Given the description of an element on the screen output the (x, y) to click on. 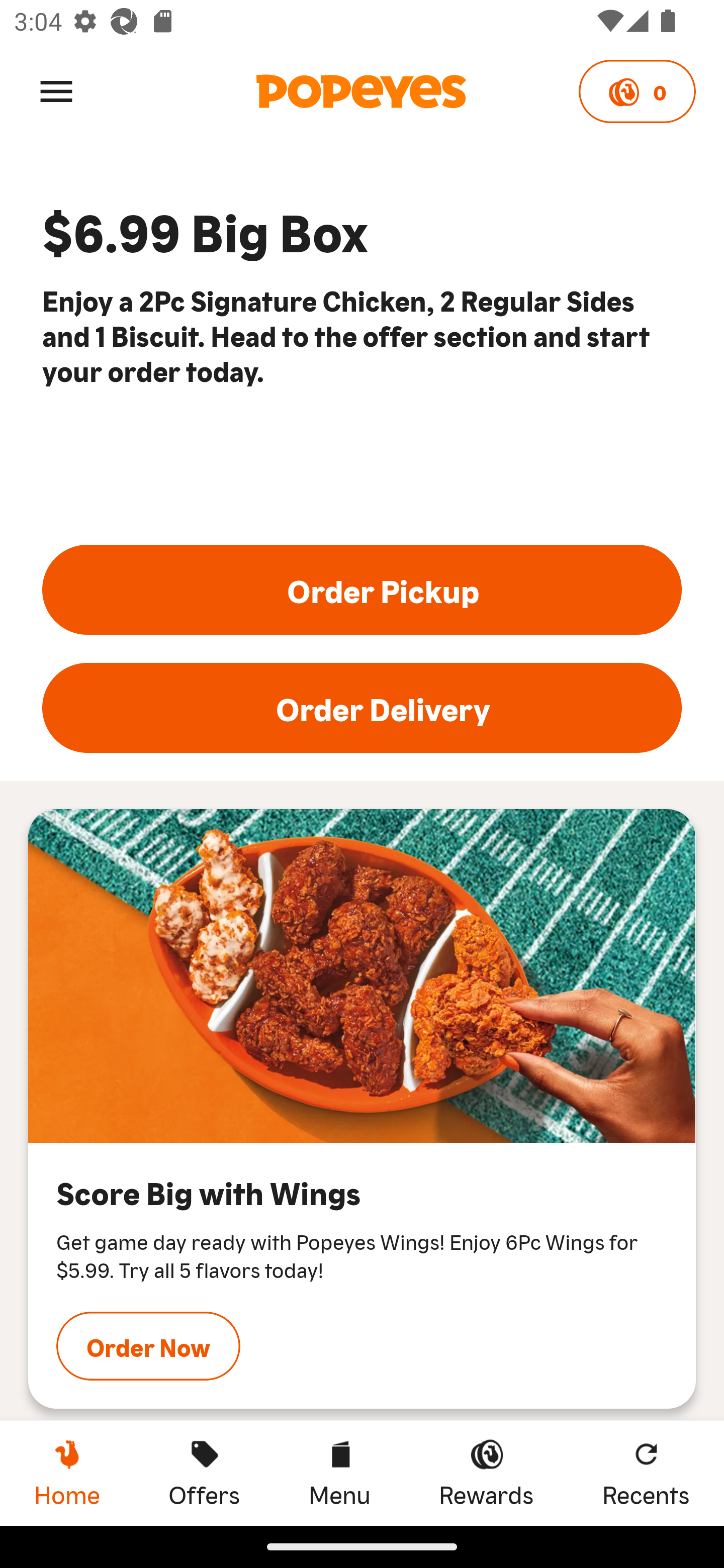
Menu  (56, 90)
0 Points 0 (636, 91)
Order Pickup (361, 589)
Order Delivery (361, 707)
Score Big with Wings (361, 976)
Order Now (148, 1345)
Home, current page Home Home, current page (66, 1472)
Offers Offers Offers (203, 1472)
Menu Menu Menu (339, 1472)
Rewards Rewards Rewards (486, 1472)
Recents Recents Recents (646, 1472)
